Given the description of an element on the screen output the (x, y) to click on. 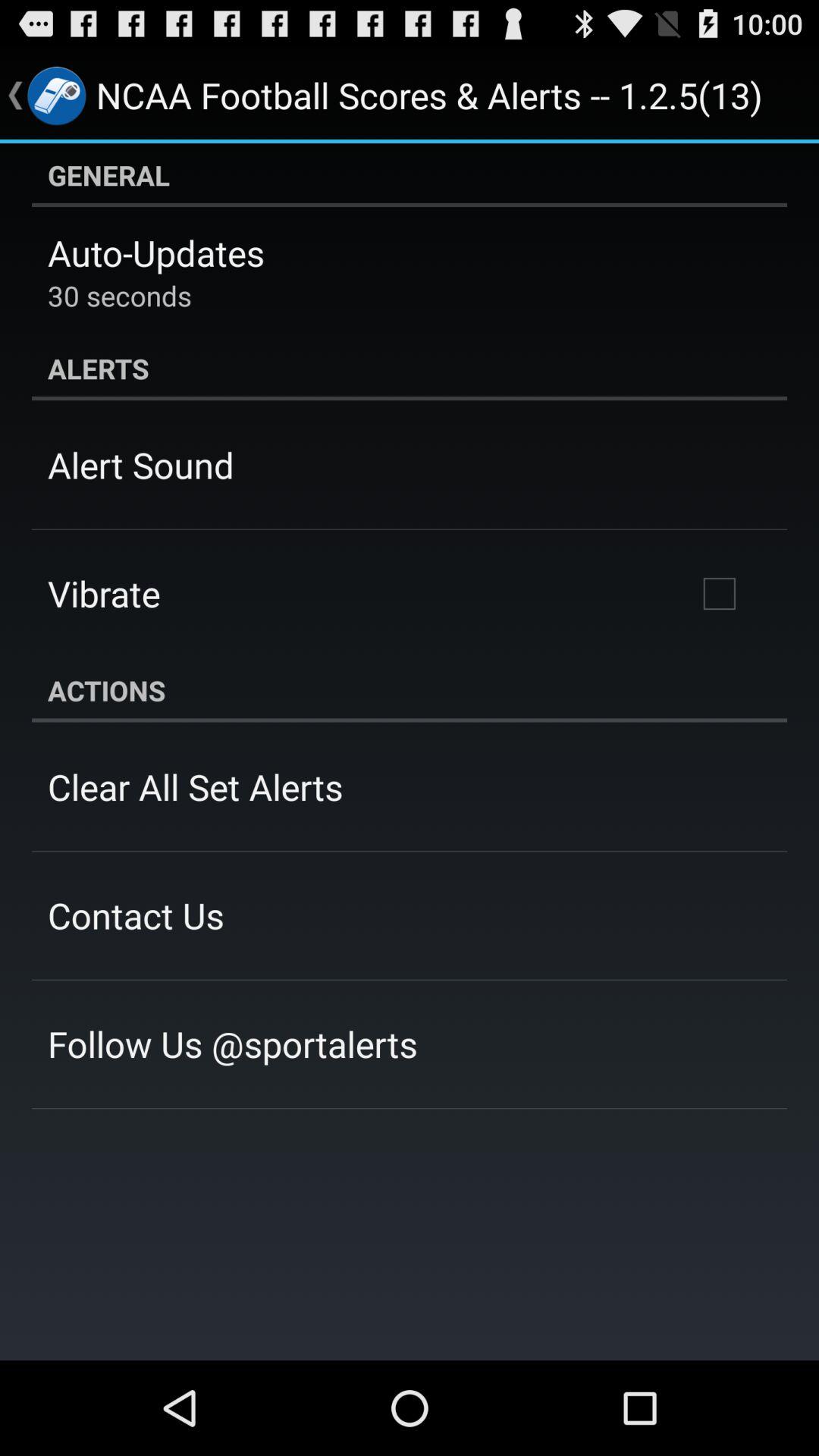
press app above contact us app (194, 786)
